Given the description of an element on the screen output the (x, y) to click on. 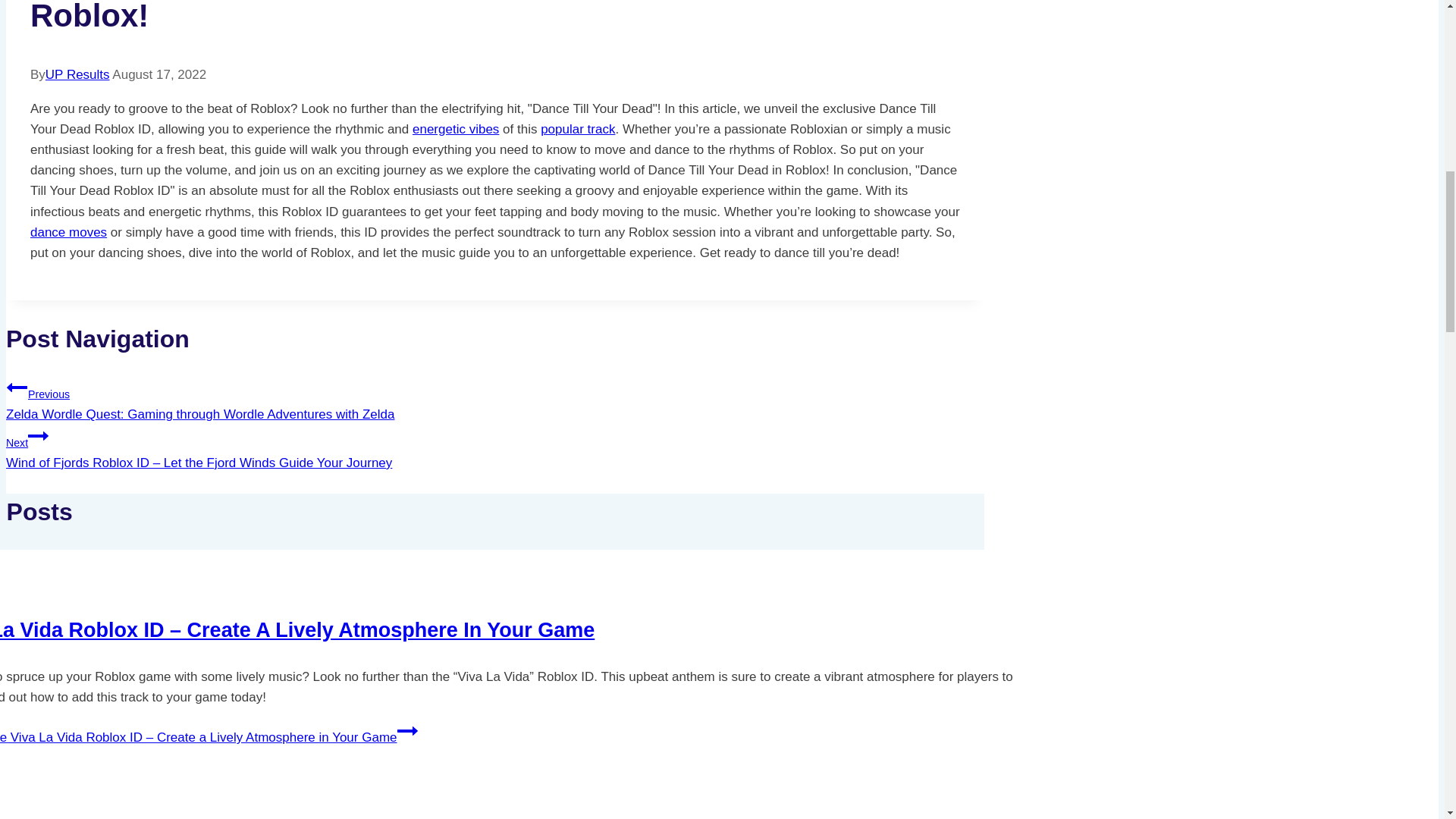
UP Results (77, 74)
Continue (37, 435)
Previous (16, 387)
Continue (407, 731)
energetic vibes (455, 129)
dance moves (68, 232)
popular track (577, 129)
